Given the description of an element on the screen output the (x, y) to click on. 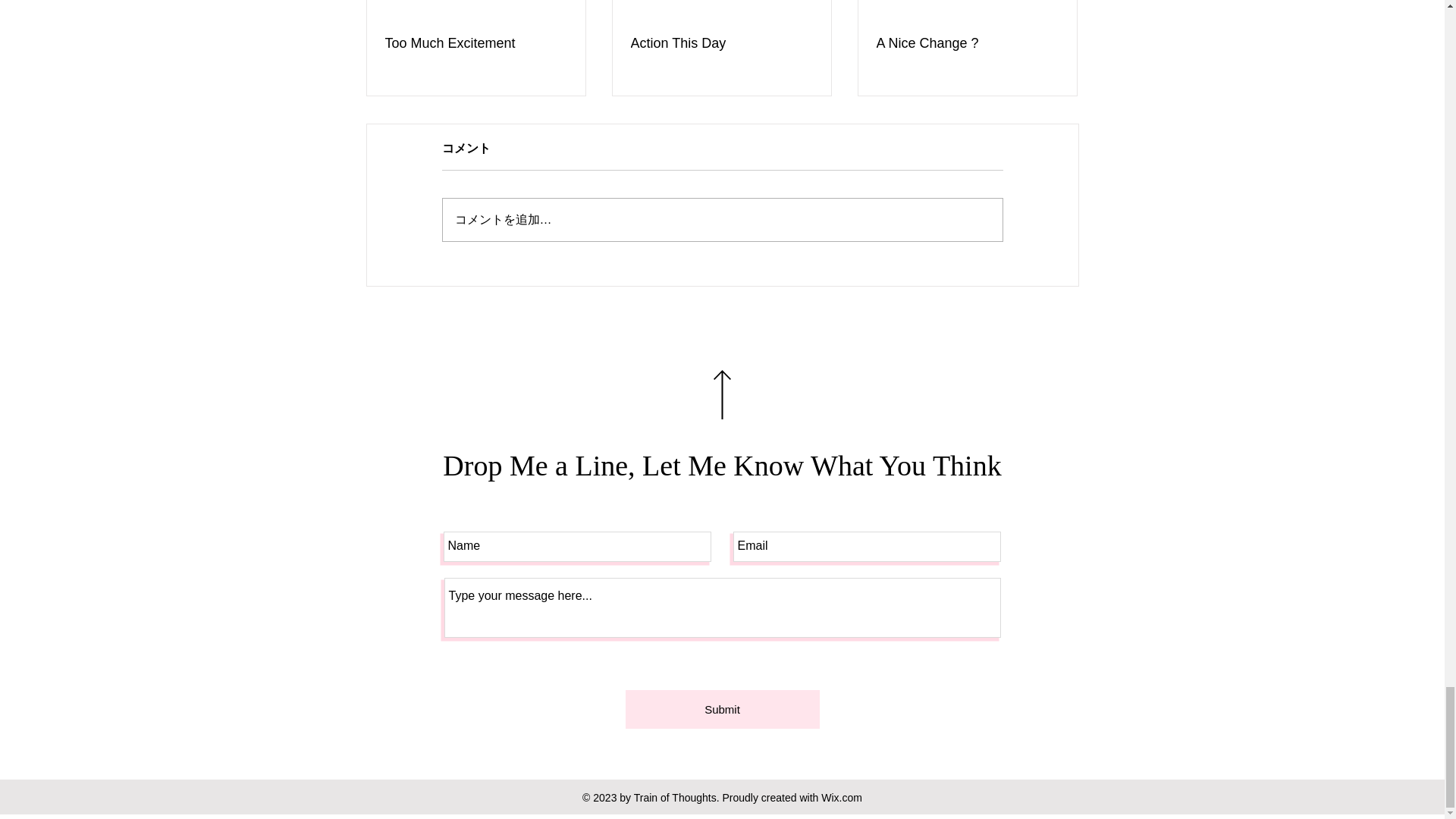
Too Much Excitement (476, 43)
A Nice Change ? (967, 43)
Action This Day (721, 43)
Submit (721, 709)
Wix.com (841, 797)
